Given the description of an element on the screen output the (x, y) to click on. 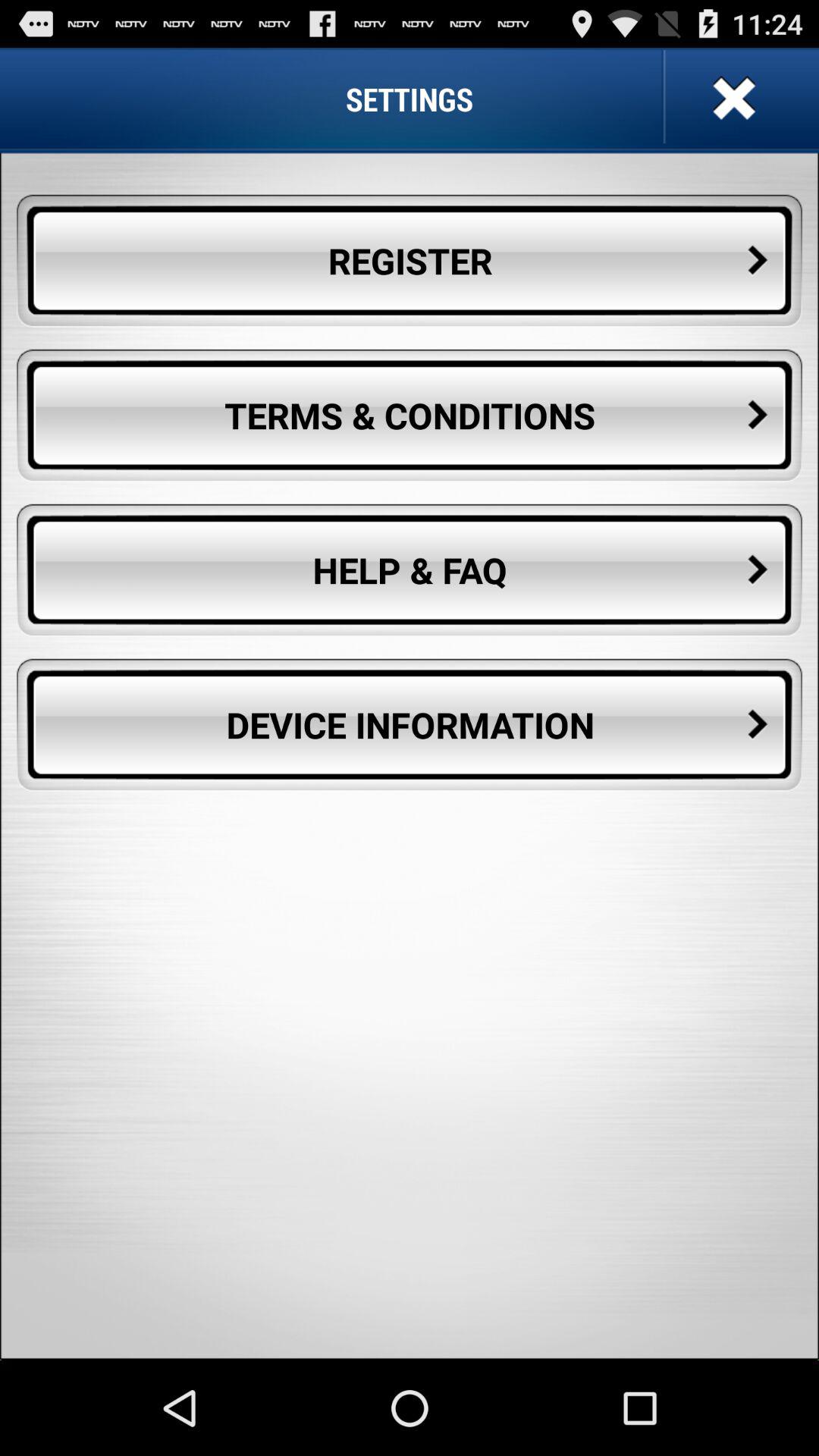
launch the icon next to settings icon (732, 99)
